Given the description of an element on the screen output the (x, y) to click on. 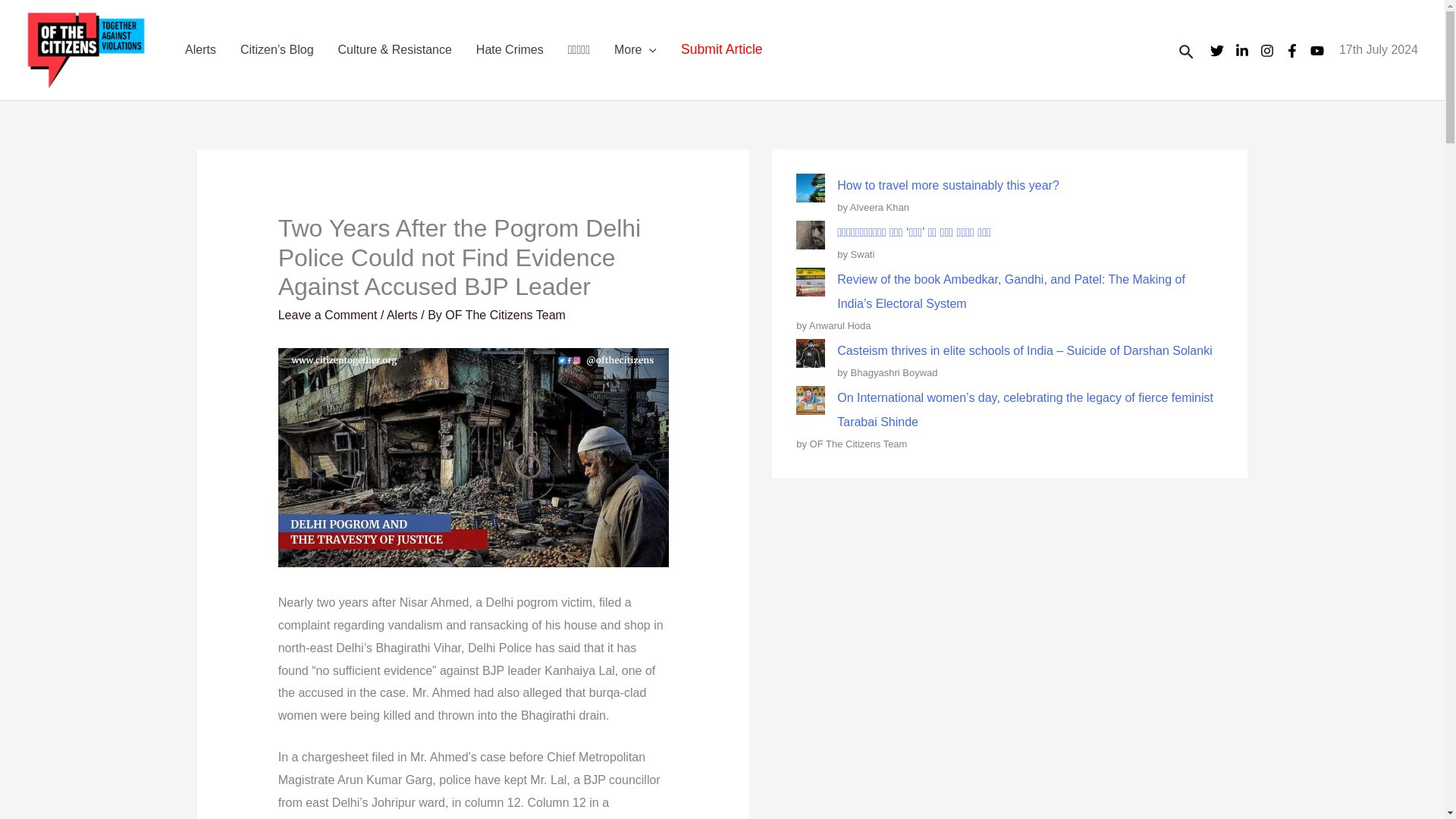
View all posts by OF The Citizens Team (505, 314)
OF The Citizens Team (505, 314)
Submit Article (721, 49)
Leave a Comment (327, 314)
Search (1187, 49)
More (635, 49)
Alerts (200, 49)
Alerts (402, 314)
Hate Crimes (510, 49)
